Given the description of an element on the screen output the (x, y) to click on. 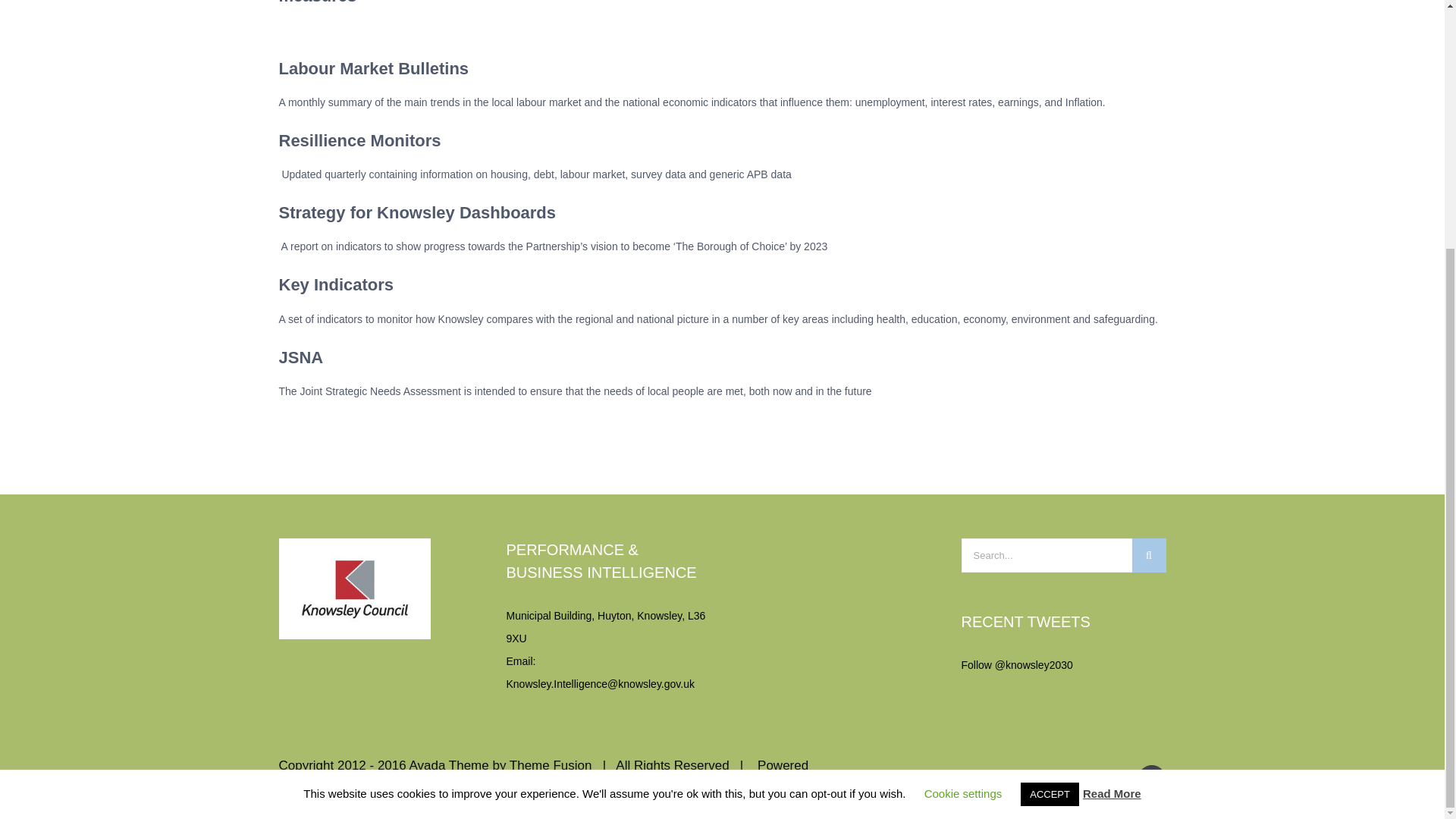
Key Indicators (336, 284)
Resillience Monitors (360, 140)
Twitter (1151, 778)
Strategy for Knowsley Dashboard (417, 212)
Twitter (1151, 778)
Cookie settings (963, 445)
Key Indicators (336, 284)
Labour Market Bulletins (373, 67)
Knowsley Resilience Monitor (360, 140)
Labour Market Bulletin (373, 67)
Theme Fusion (550, 765)
Privacy Notice (483, 792)
Strategy for Knowsley Dashboards (417, 212)
WordPress (327, 792)
Cookies (400, 792)
